Given the description of an element on the screen output the (x, y) to click on. 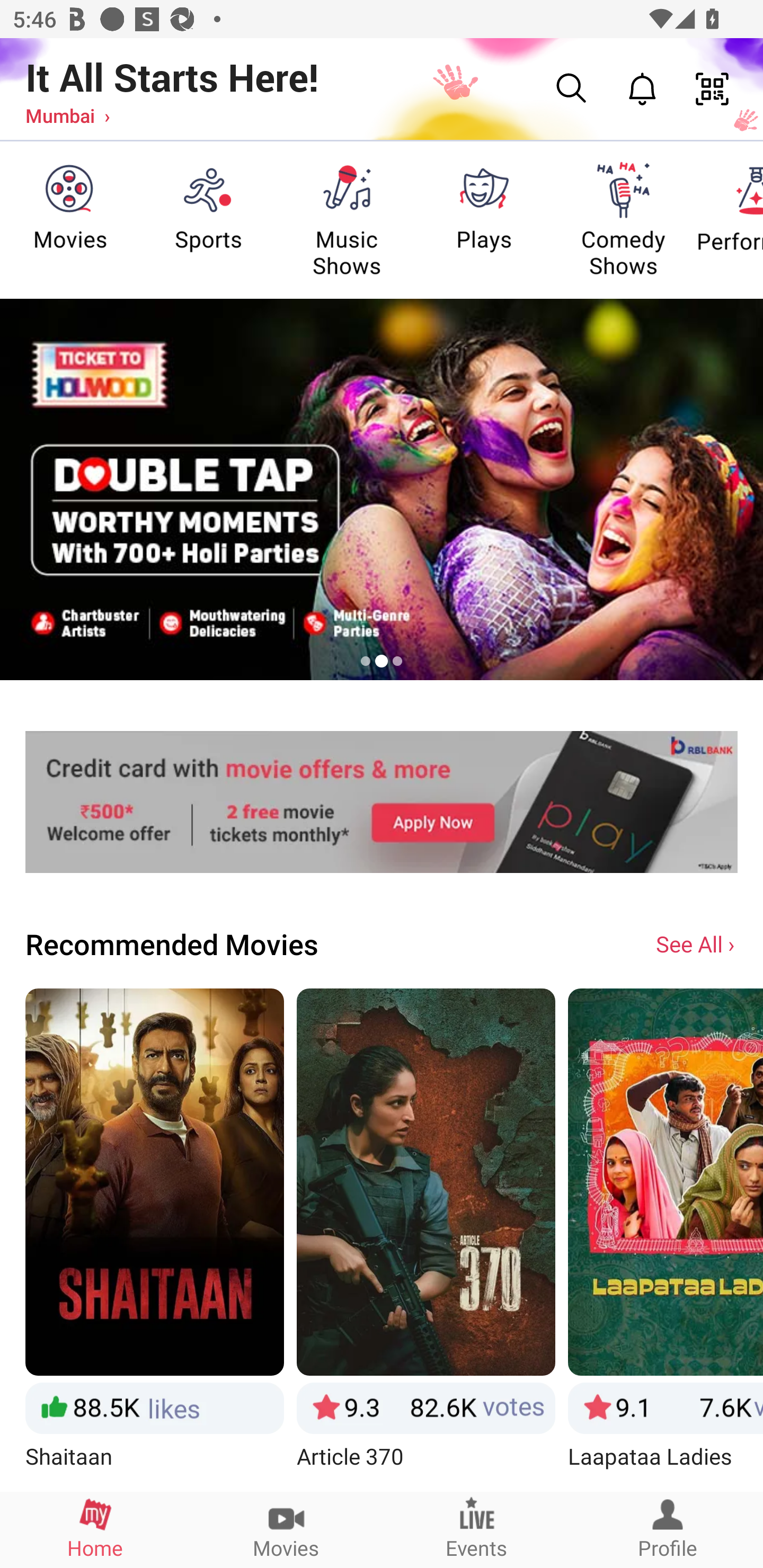
Mumbai  › (67, 114)
See All › (696, 943)
Shaitaan (154, 1239)
Article 370 (425, 1239)
Laapataa Ladies (665, 1239)
Home (95, 1529)
Movies (285, 1529)
Events (476, 1529)
Profile (667, 1529)
